Given the description of an element on the screen output the (x, y) to click on. 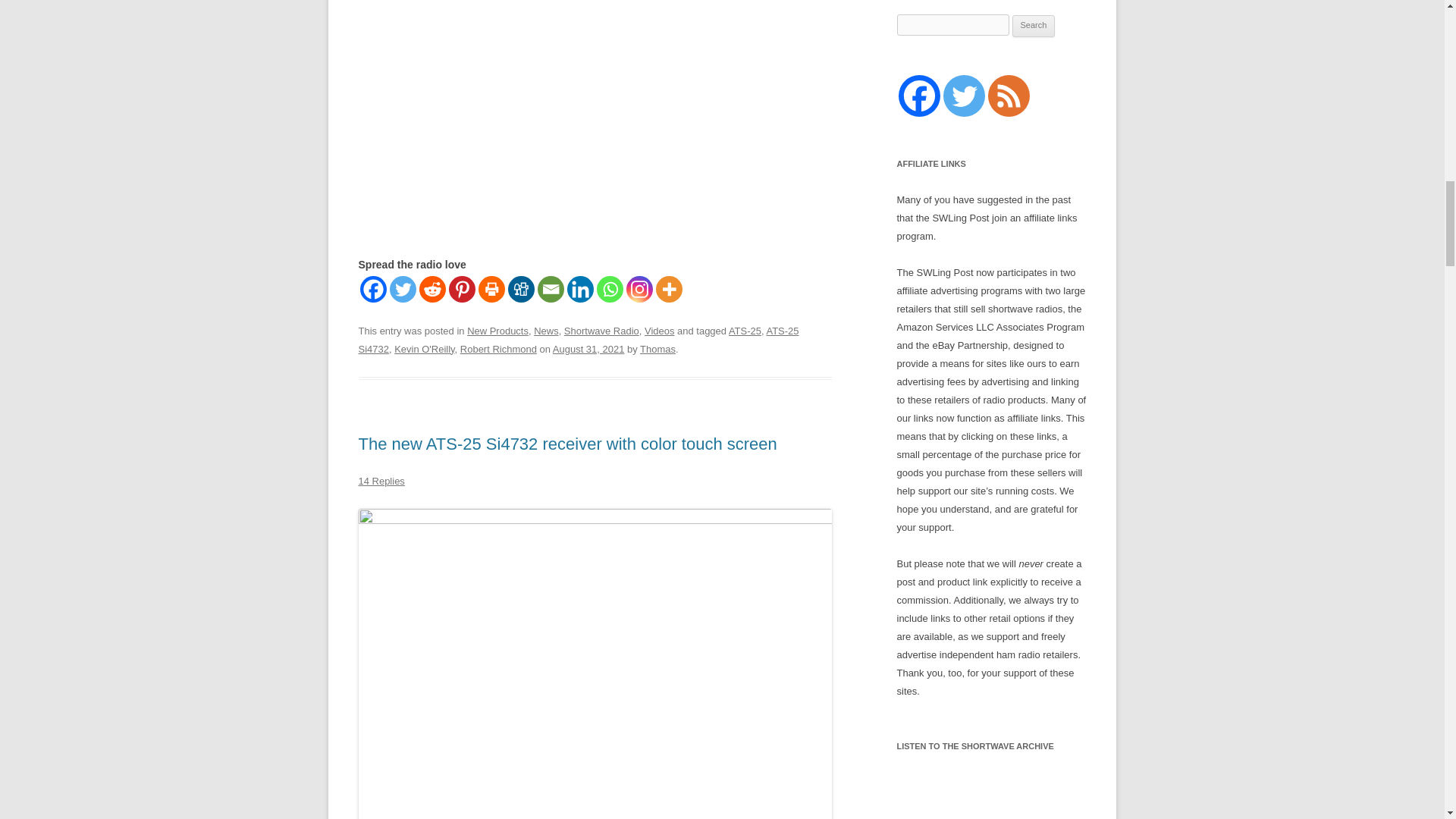
ATS-25 Si4732 (577, 339)
Pinterest (462, 289)
Email (550, 289)
Instagram (639, 289)
Whatsapp (609, 289)
ATS-25 (745, 330)
Twitter (403, 289)
Robert Richmond (498, 348)
Linkedin (580, 289)
News (545, 330)
New Products (497, 330)
Search (1033, 26)
Reddit (432, 289)
Digg (521, 289)
Shortwave Radio (601, 330)
